Given the description of an element on the screen output the (x, y) to click on. 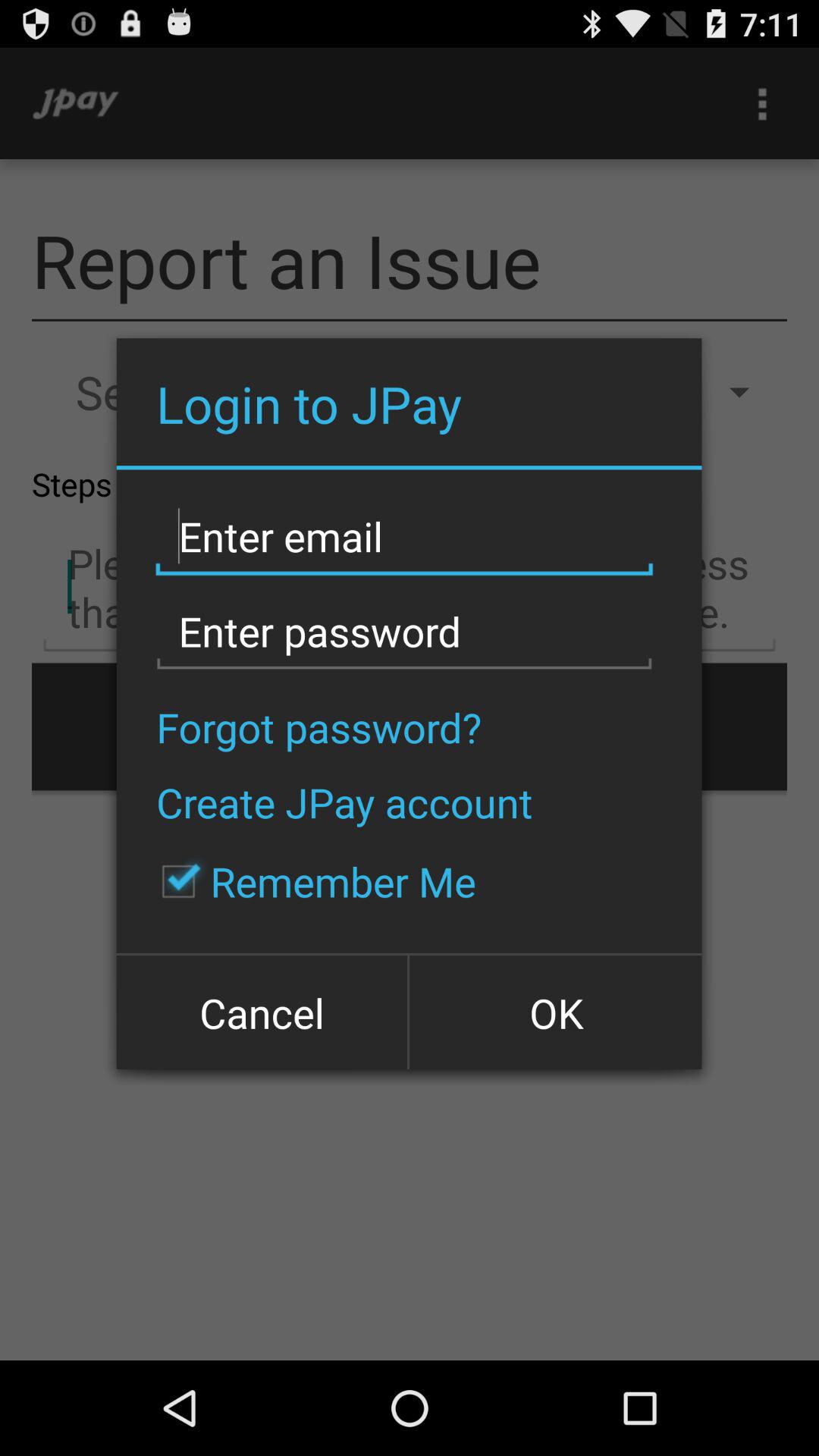
type your email (404, 536)
